Given the description of an element on the screen output the (x, y) to click on. 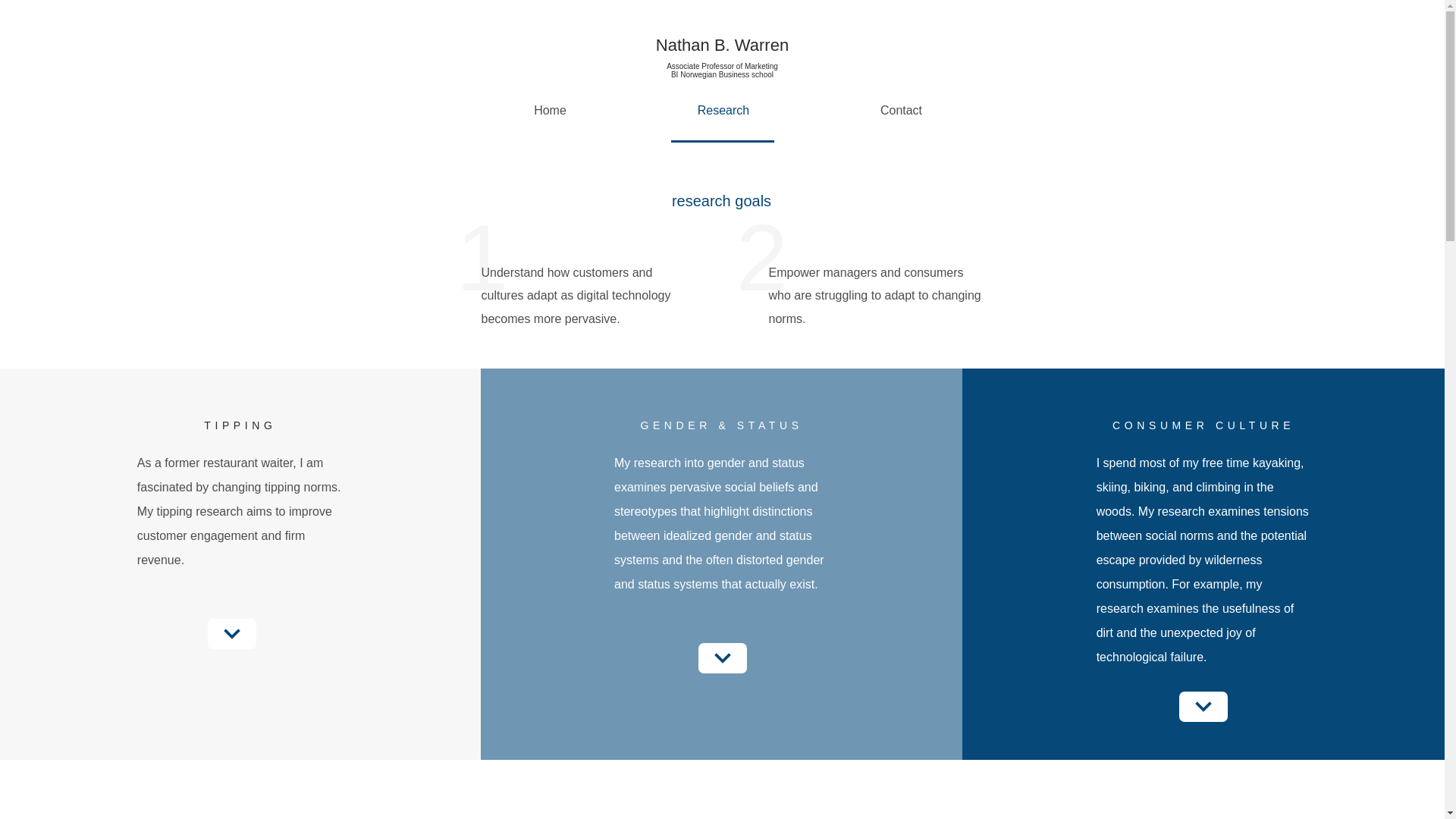
Contact (900, 110)
Home (549, 110)
Research (723, 110)
